Given the description of an element on the screen output the (x, y) to click on. 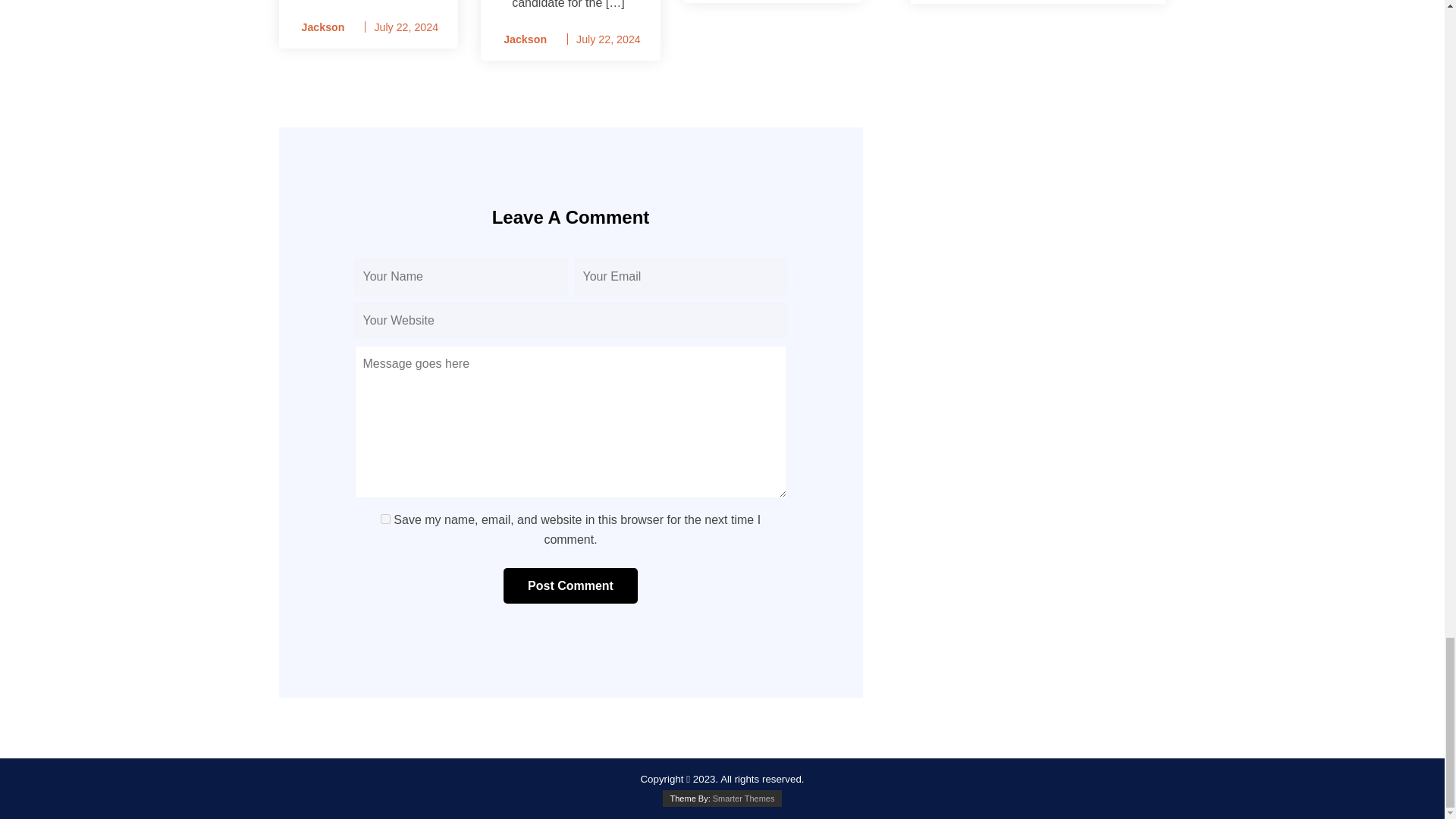
Jackson (318, 27)
July 22, 2024 (406, 27)
yes (385, 519)
Post Comment (570, 586)
Jackson (520, 39)
July 22, 2024 (608, 39)
